Given the description of an element on the screen output the (x, y) to click on. 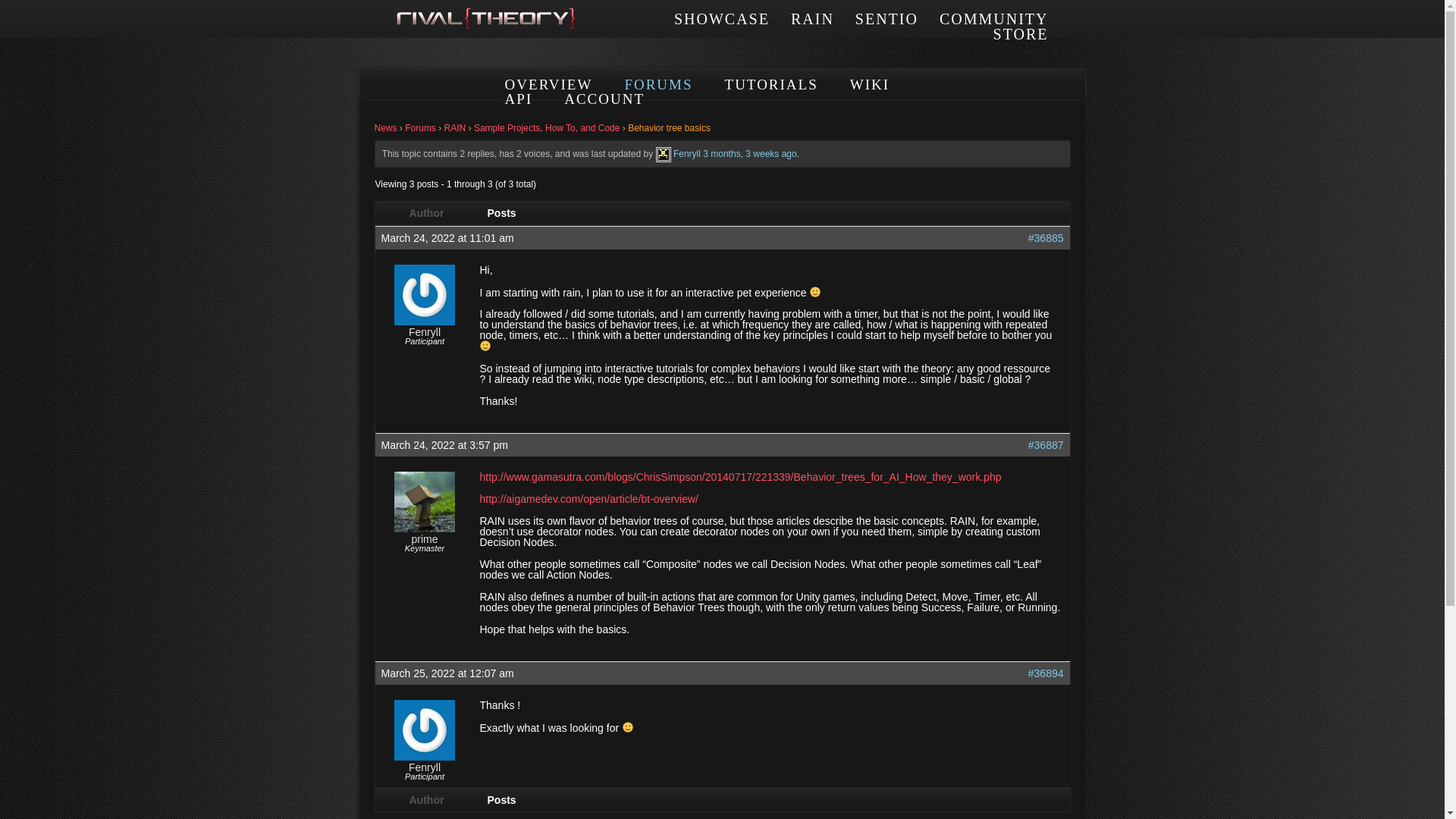
View Fenryll's profile (425, 767)
View Fenryll's profile (425, 331)
Fenryll (686, 153)
Fenryll (425, 767)
View Fenryll's profile (663, 153)
TUTORIALS (771, 84)
RAIN (812, 18)
3 months, 3 weeks ago (749, 153)
SHOWCASE (722, 18)
STORE (1020, 33)
